Given the description of an element on the screen output the (x, y) to click on. 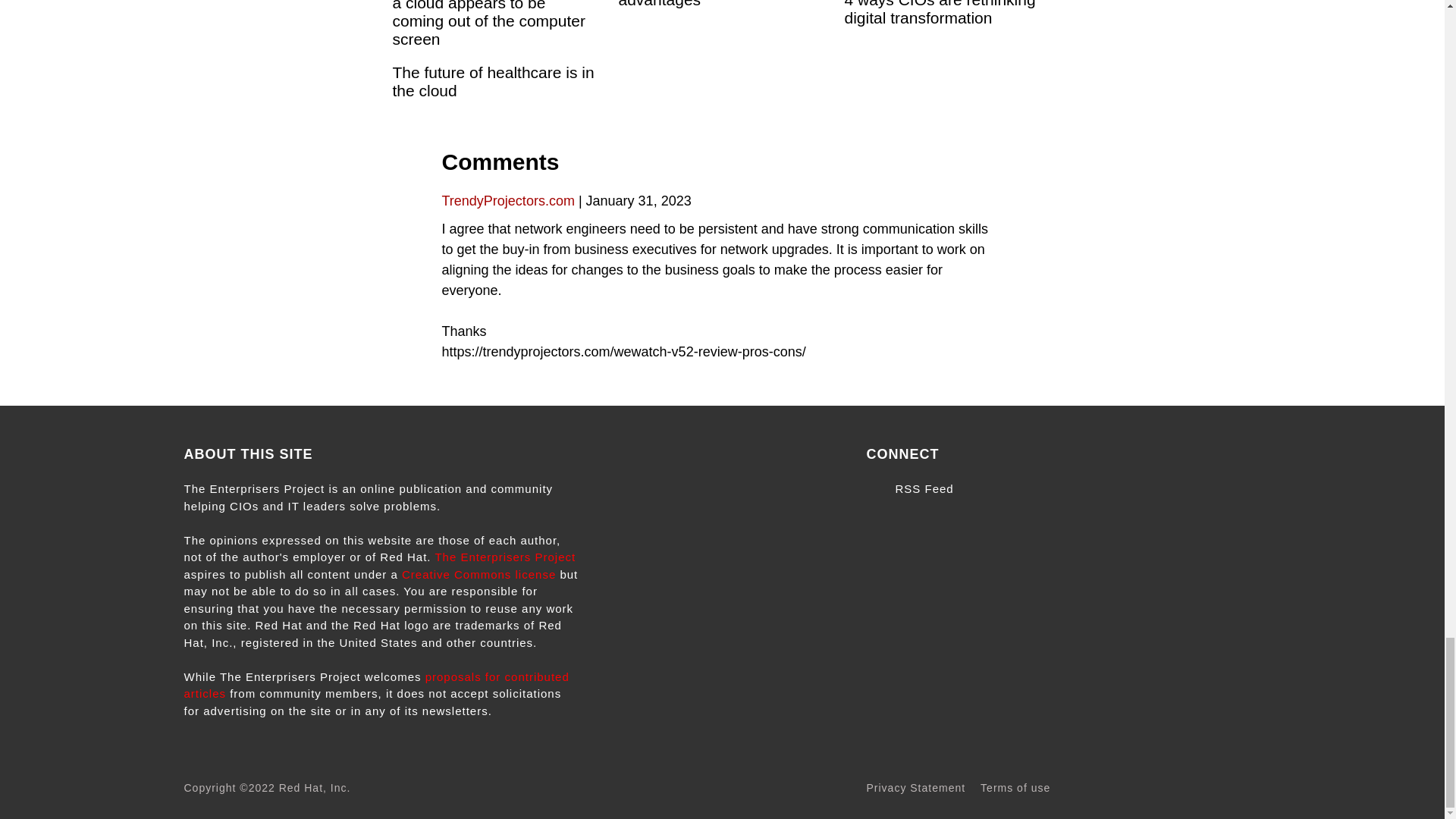
Creative Commons license (478, 574)
The Enterprisers Project (504, 556)
